Given the description of an element on the screen output the (x, y) to click on. 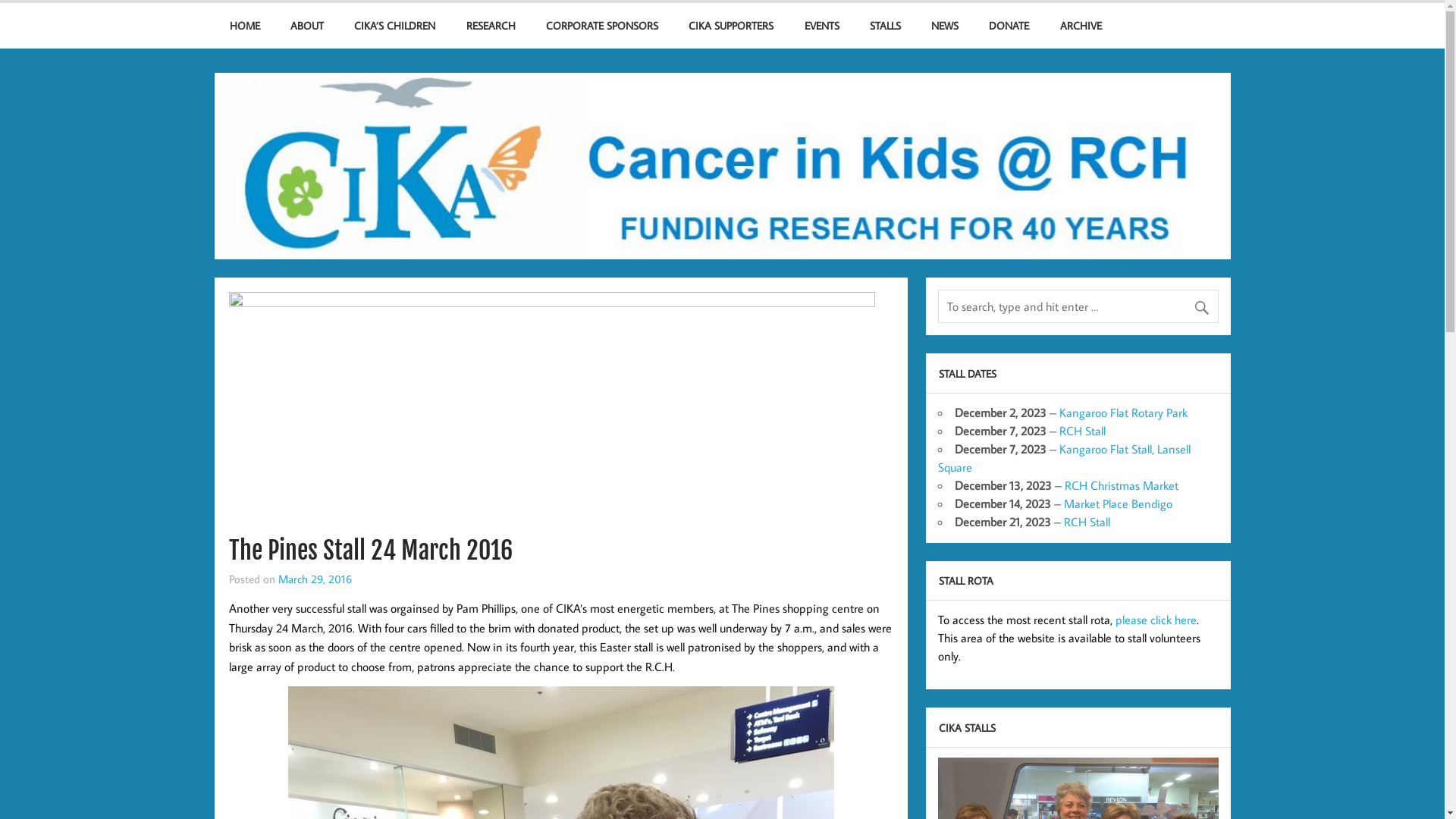
EVENTS Element type: text (820, 25)
RESEARCH Element type: text (490, 25)
Market Place Bendigo Element type: text (1117, 503)
RCH Stall Element type: text (1081, 430)
March 29, 2016 Element type: text (314, 578)
NEWS Element type: text (944, 25)
STALLS Element type: text (885, 25)
Kangaroo Flat Stall, Lansell Square Element type: text (1063, 457)
ARCHIVE Element type: text (1080, 25)
CORPORATE SPONSORS Element type: text (601, 25)
HOME Element type: text (243, 25)
DONATE Element type: text (1008, 25)
CIKA SUPPORTERS Element type: text (730, 25)
Kangaroo Flat Rotary Park Element type: text (1122, 412)
RCH Christmas Market Element type: text (1121, 484)
please click here Element type: text (1154, 619)
RCH Stall Element type: text (1086, 521)
ABOUT Element type: text (306, 25)
